Given the description of an element on the screen output the (x, y) to click on. 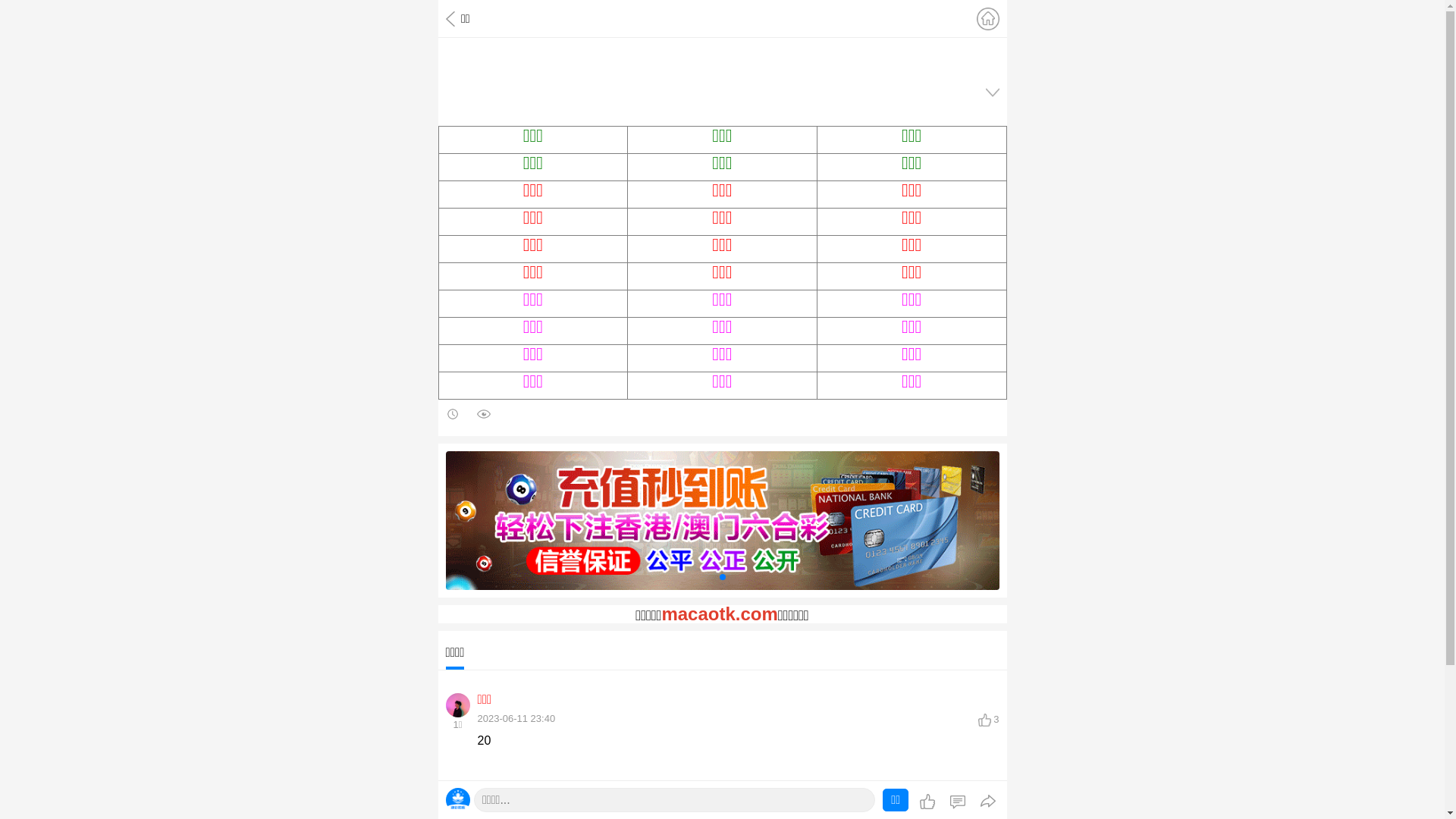
3 Element type: text (988, 718)
3 Element type: text (988, 808)
